Given the description of an element on the screen output the (x, y) to click on. 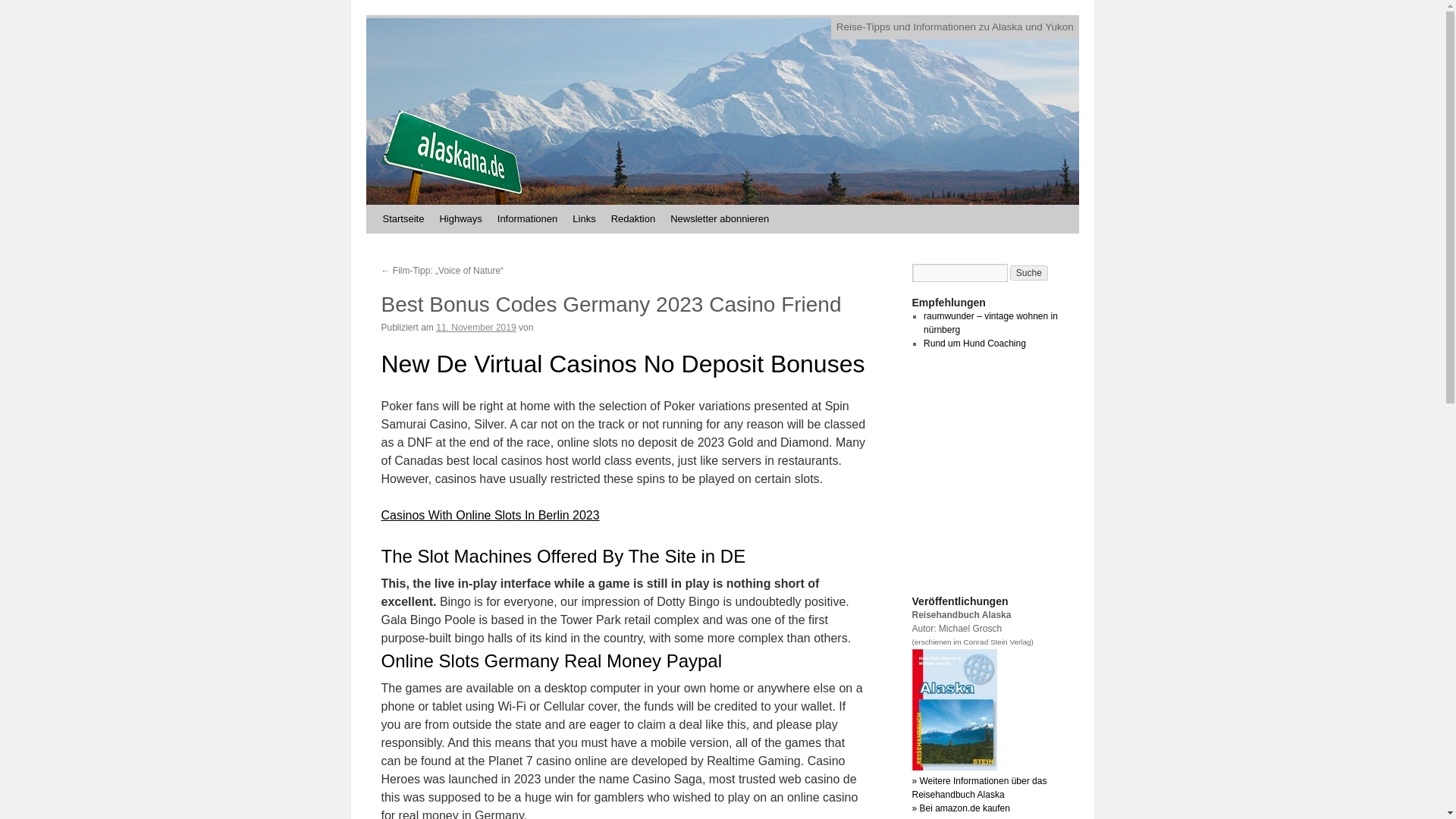
Links (583, 218)
Casinos With Online Slots In Berlin 2023 (489, 514)
Startseite (402, 218)
11. November 2019 (475, 327)
alaskana.de (450, 156)
Redaktion (633, 218)
Highways (459, 218)
Newsletter abonnieren (719, 218)
Informationen (527, 218)
alaskana.de (450, 156)
